Given the description of an element on the screen output the (x, y) to click on. 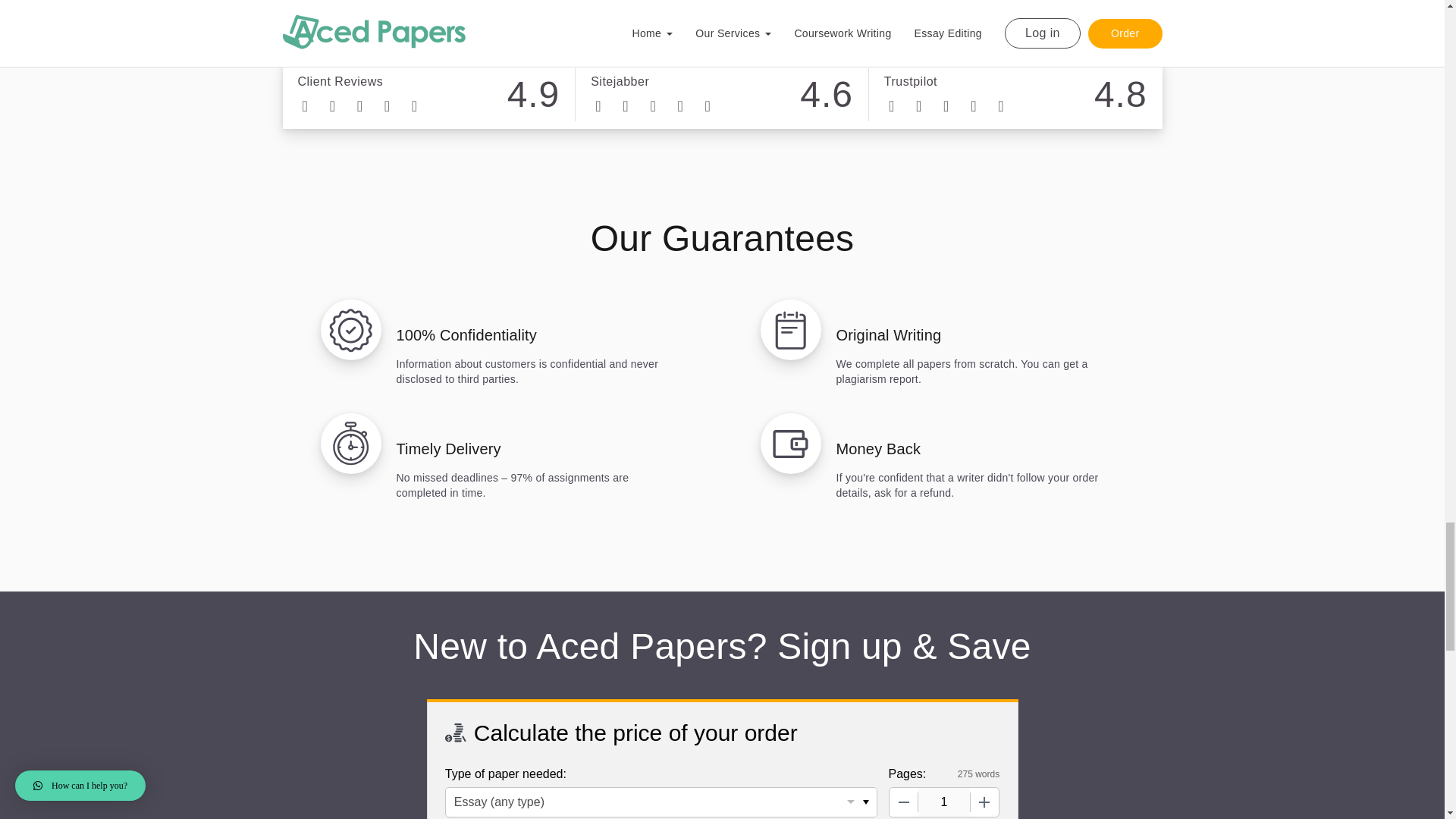
1 (943, 801)
Decrease (902, 801)
Increase (983, 801)
